Given the description of an element on the screen output the (x, y) to click on. 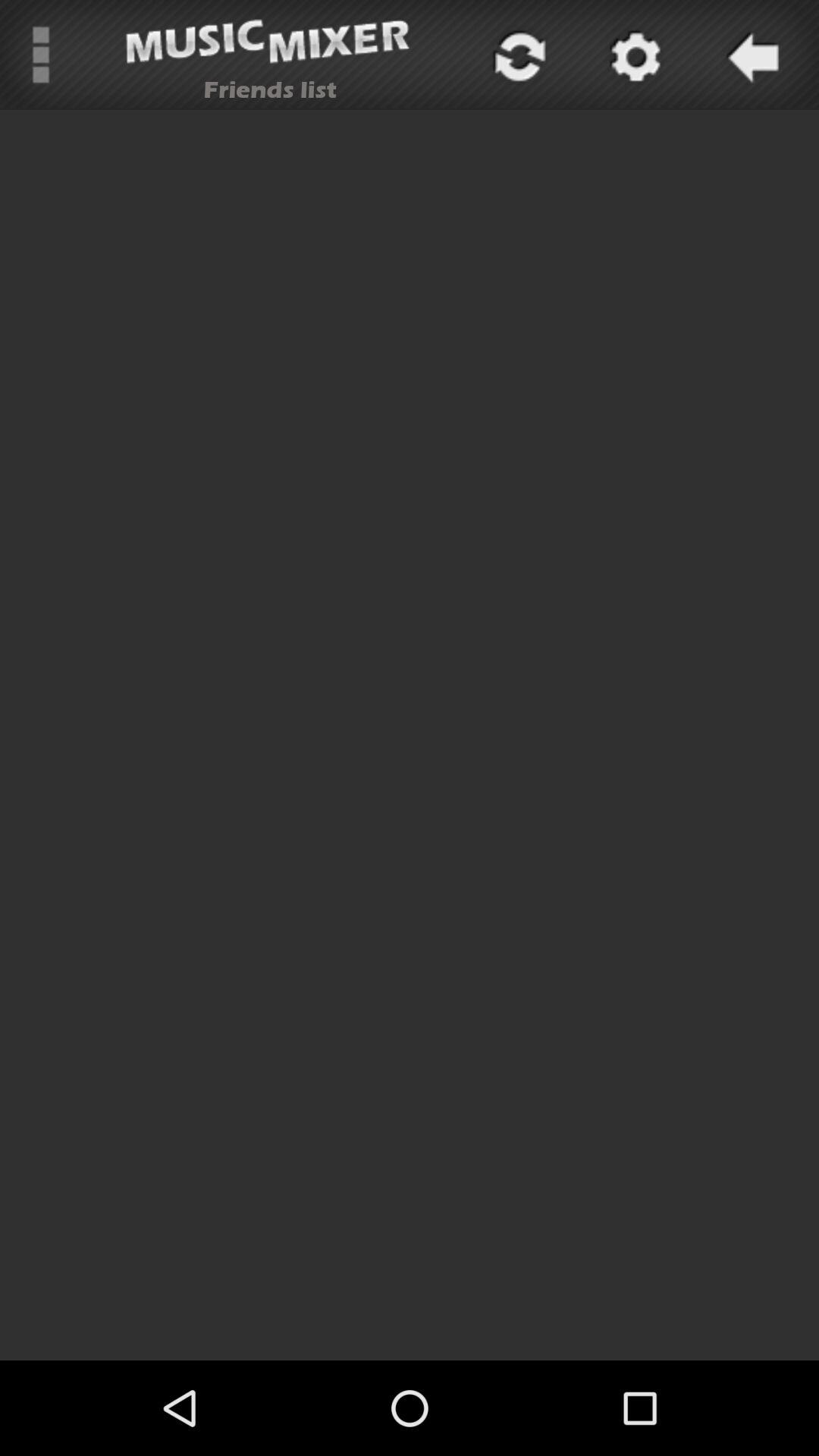
open the icon next to the friends list item (40, 54)
